Given the description of an element on the screen output the (x, y) to click on. 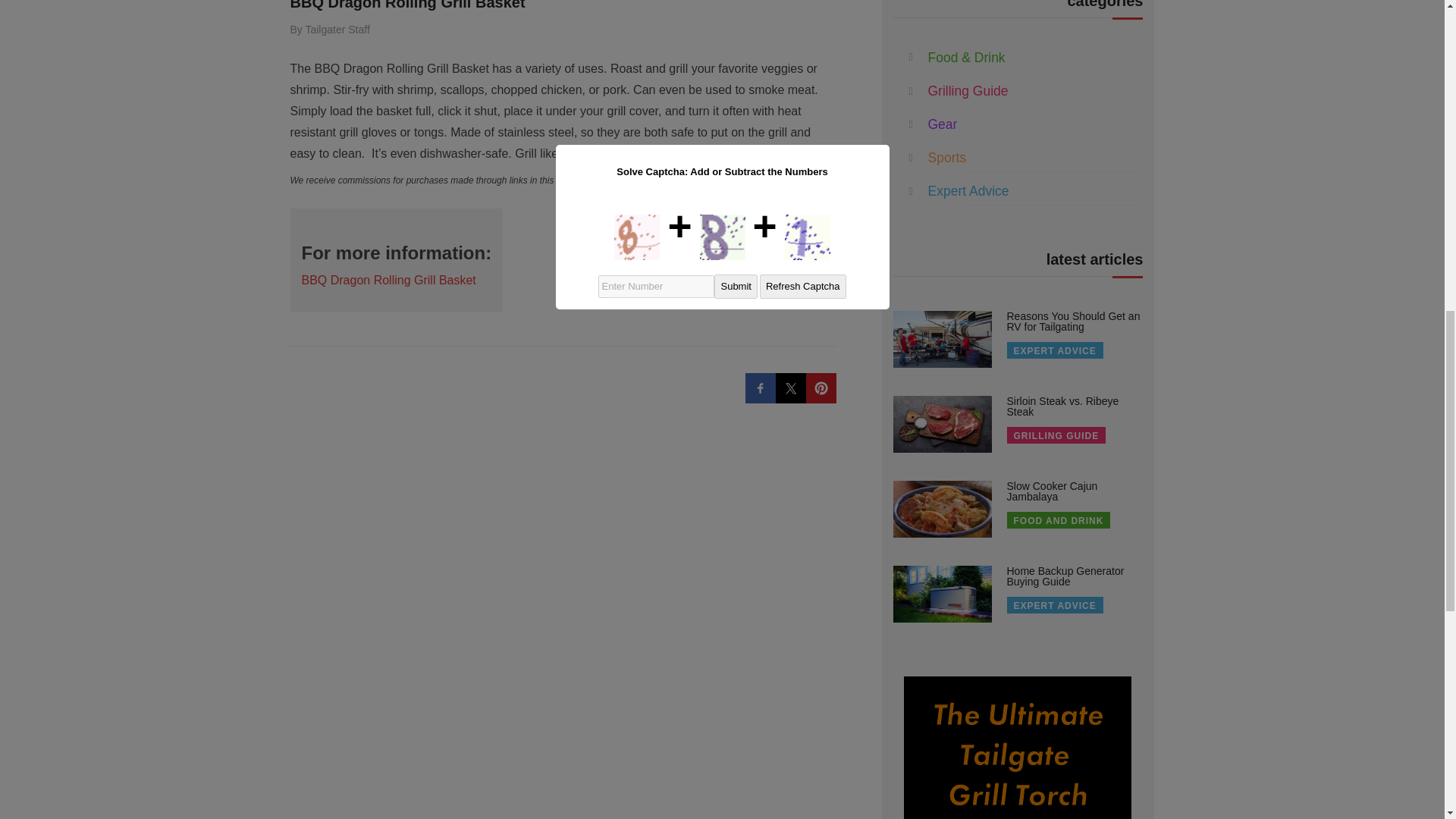
Sports (947, 157)
Expert Advice (968, 191)
Slow Cooker Cajun Jambalaya (1052, 490)
Home Backup Generator Buying Guide (1065, 576)
BBQ Dragon Rolling Grill Basket (388, 279)
Reasons You Should Get an RV for Tailgating (1073, 321)
Sirloin Steak vs. Ribeye Steak (1063, 405)
BBQ Dragon Rolling Grill Basket (406, 5)
Grilling Guide (968, 90)
Gear (943, 124)
